Given the description of an element on the screen output the (x, y) to click on. 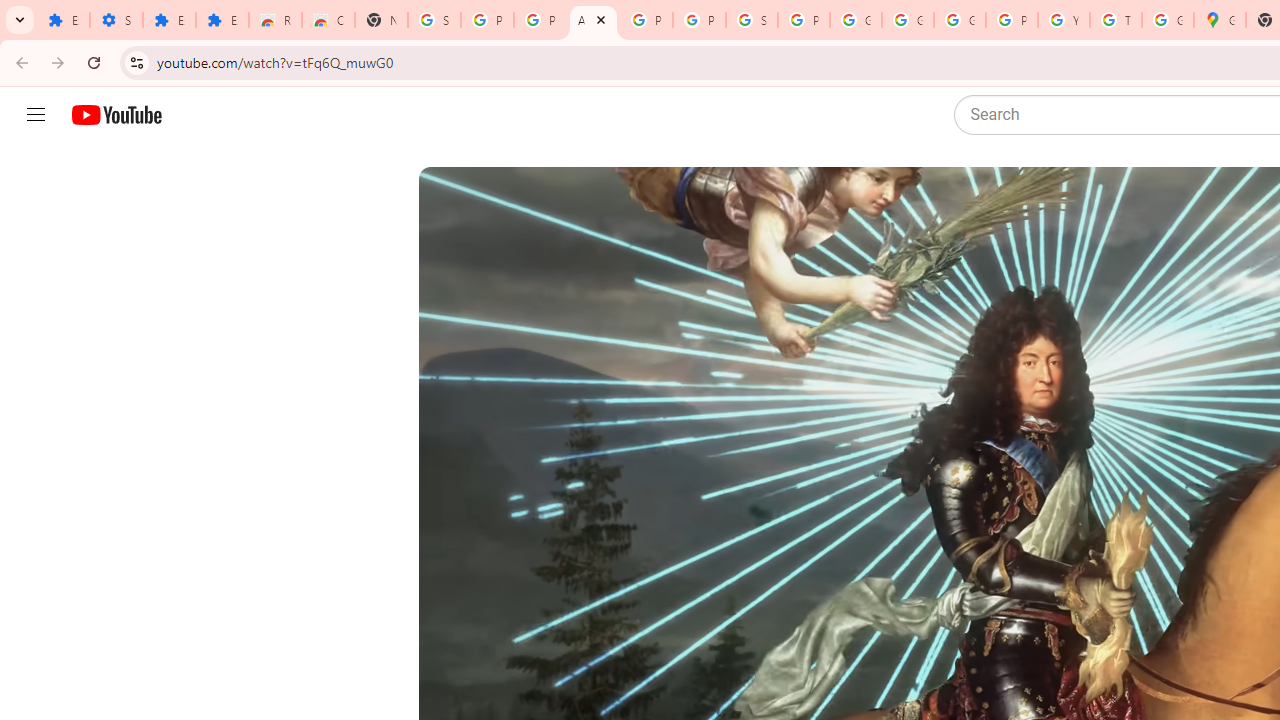
Google Maps (1219, 20)
Google Account (907, 20)
Guide (35, 115)
View site information (136, 62)
YouTube Home (116, 115)
Sign in - Google Accounts (434, 20)
